Given the description of an element on the screen output the (x, y) to click on. 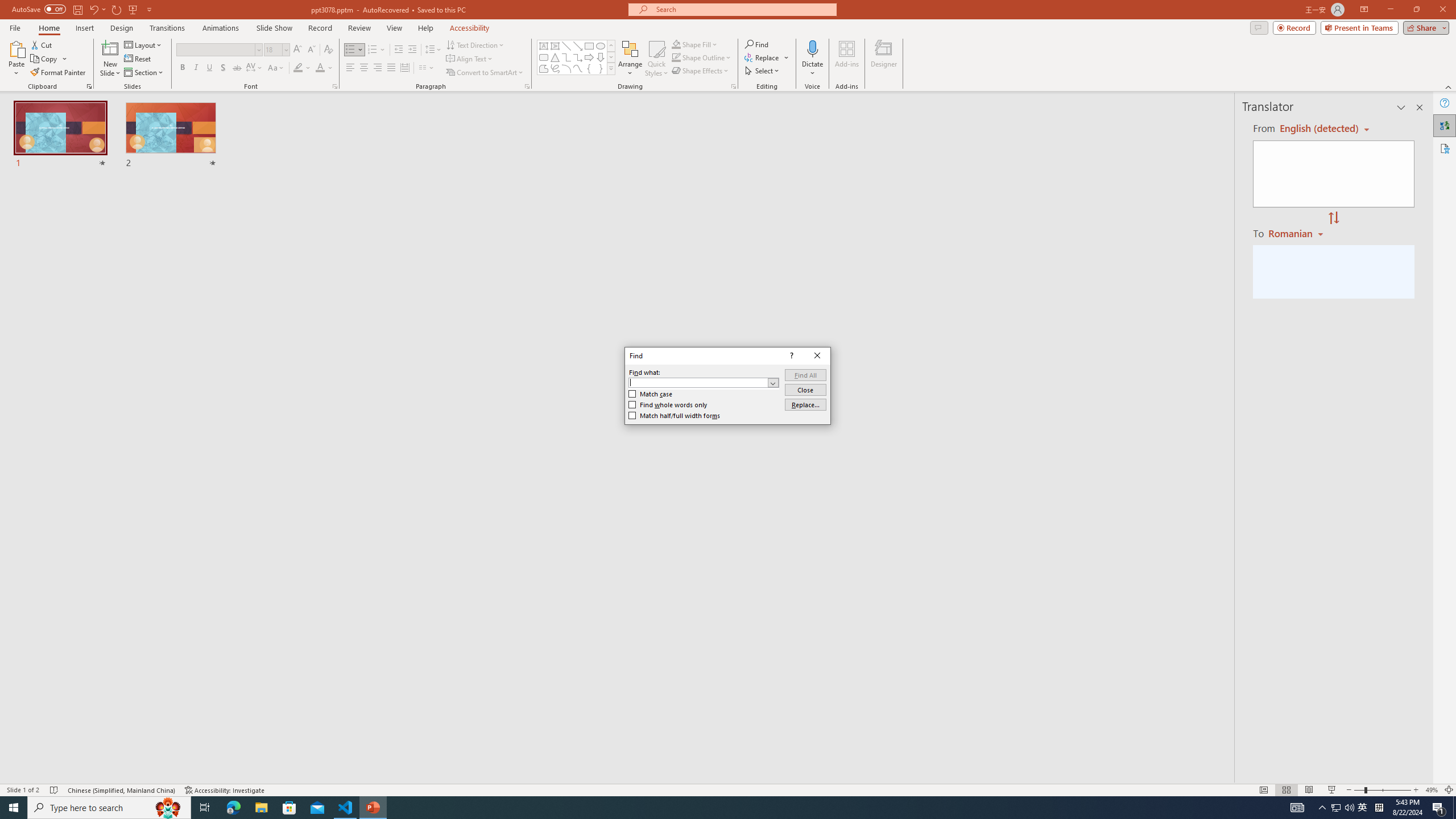
Find whole words only (667, 404)
